Given the description of an element on the screen output the (x, y) to click on. 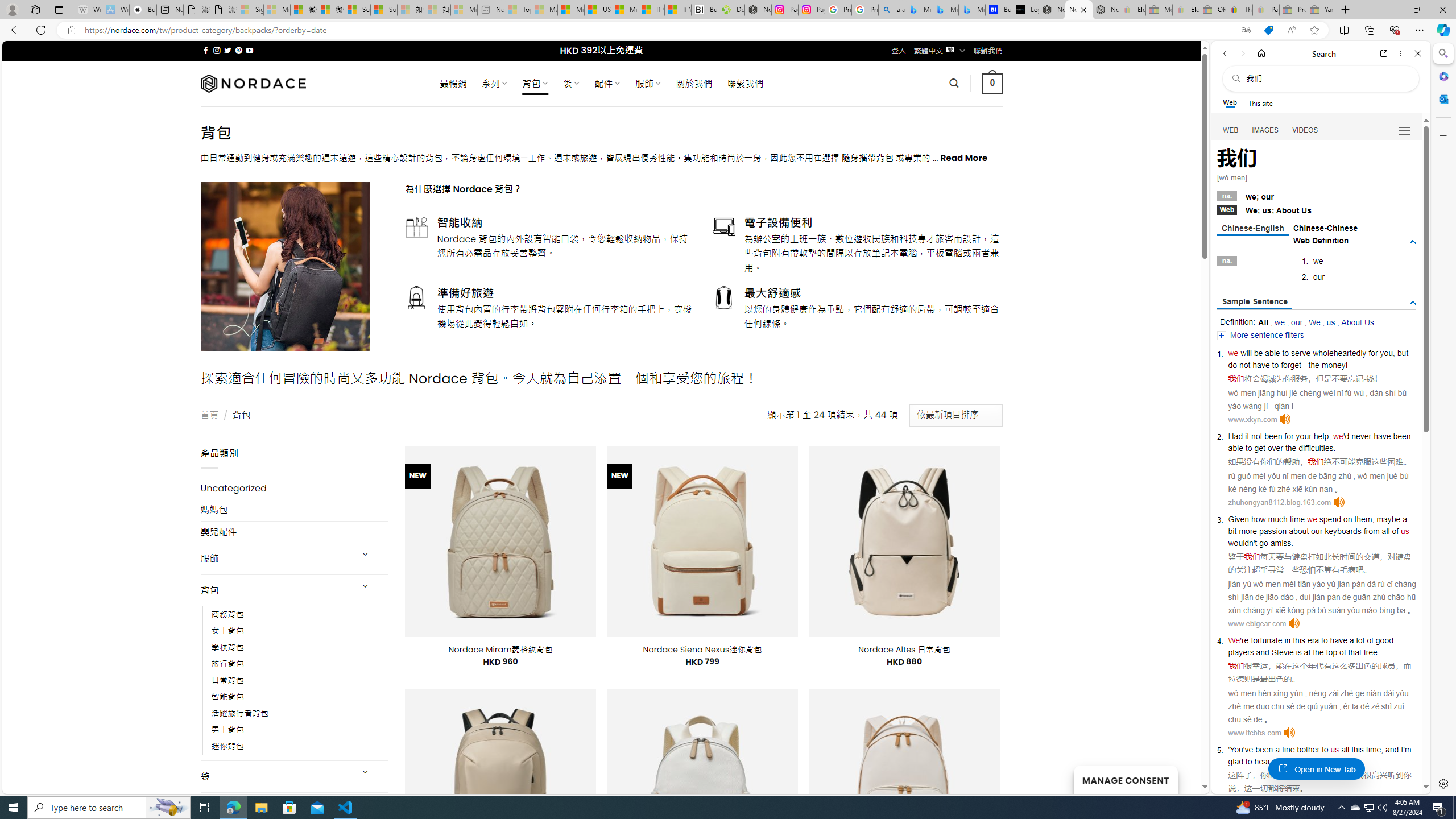
about (1298, 530)
Microsoft Services Agreement - Sleeping (277, 9)
Follow on Facebook (205, 50)
for (1372, 352)
- (1364, 378)
